Given the description of an element on the screen output the (x, y) to click on. 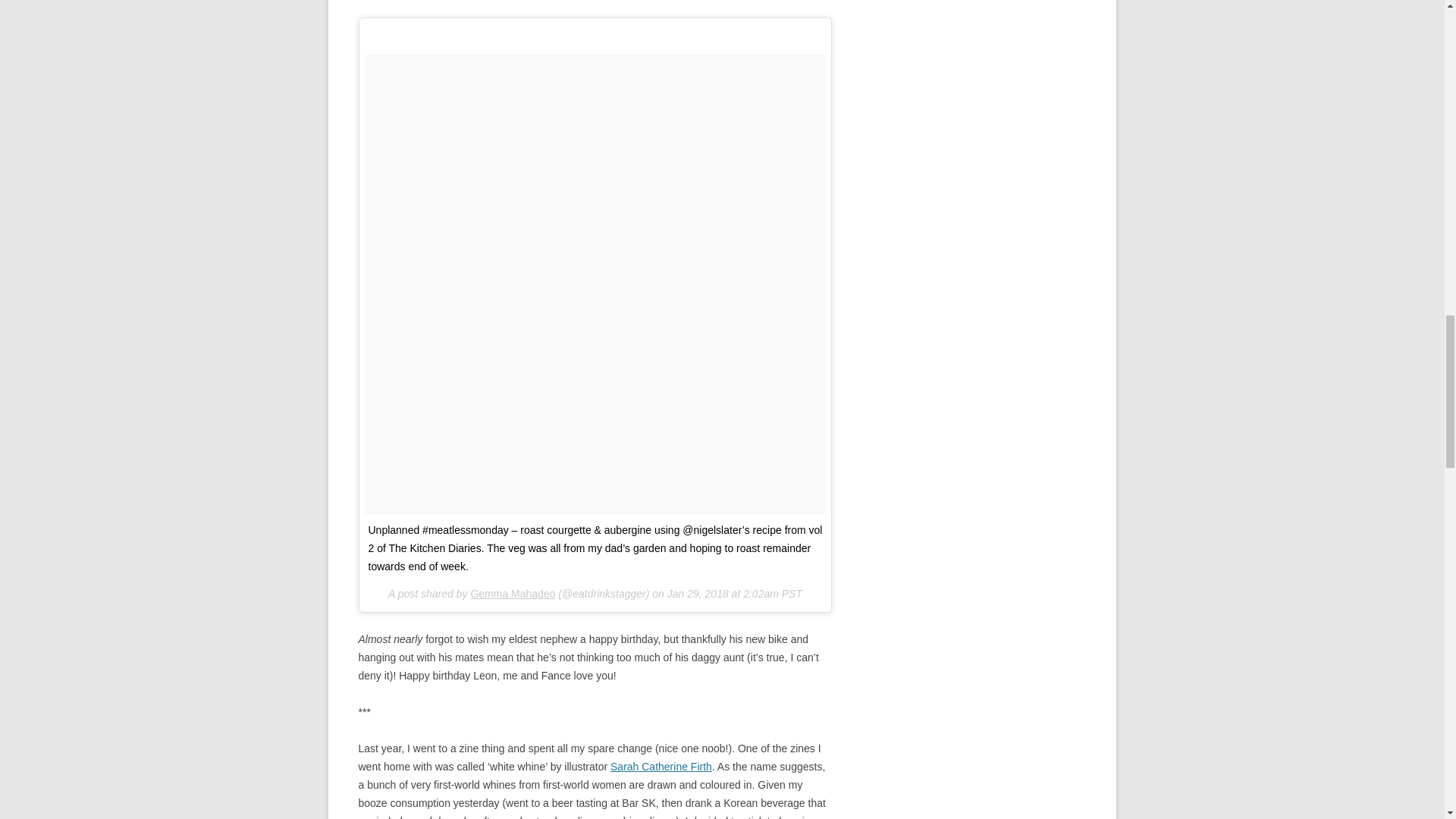
Sarah Catherine Firth (660, 766)
Gemma Mahadeo (512, 593)
